Given the description of an element on the screen output the (x, y) to click on. 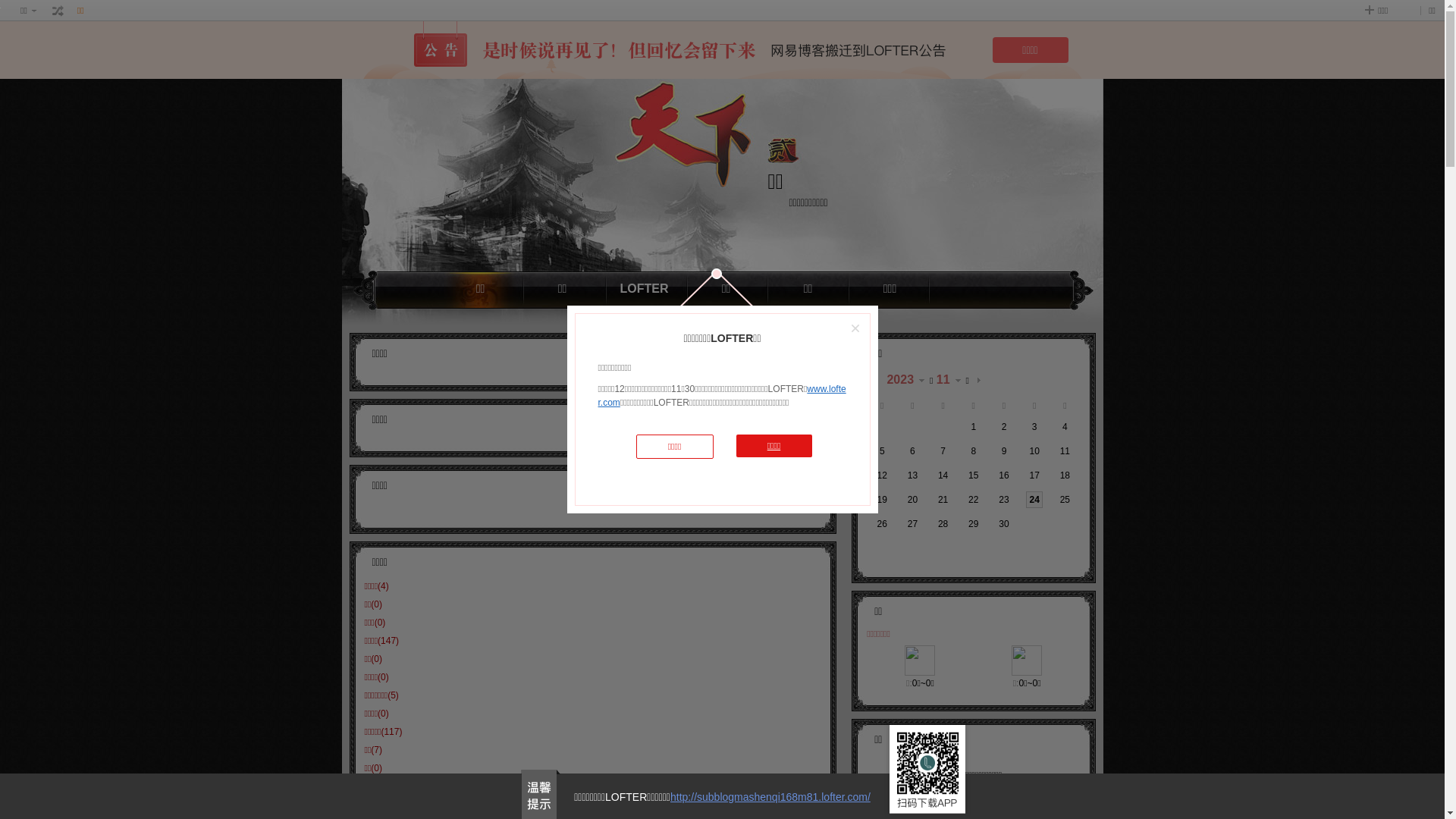
http://subblogmashenqi168m81.lofter.com/ Element type: text (770, 796)
LOFTER Element type: text (643, 289)
2023  Element type: text (907, 380)
  Element type: text (979, 380)
www.lofter.com Element type: text (721, 395)
  Element type: text (58, 10)
11  Element type: text (950, 380)
  Element type: text (874, 380)
